Given the description of an element on the screen output the (x, y) to click on. 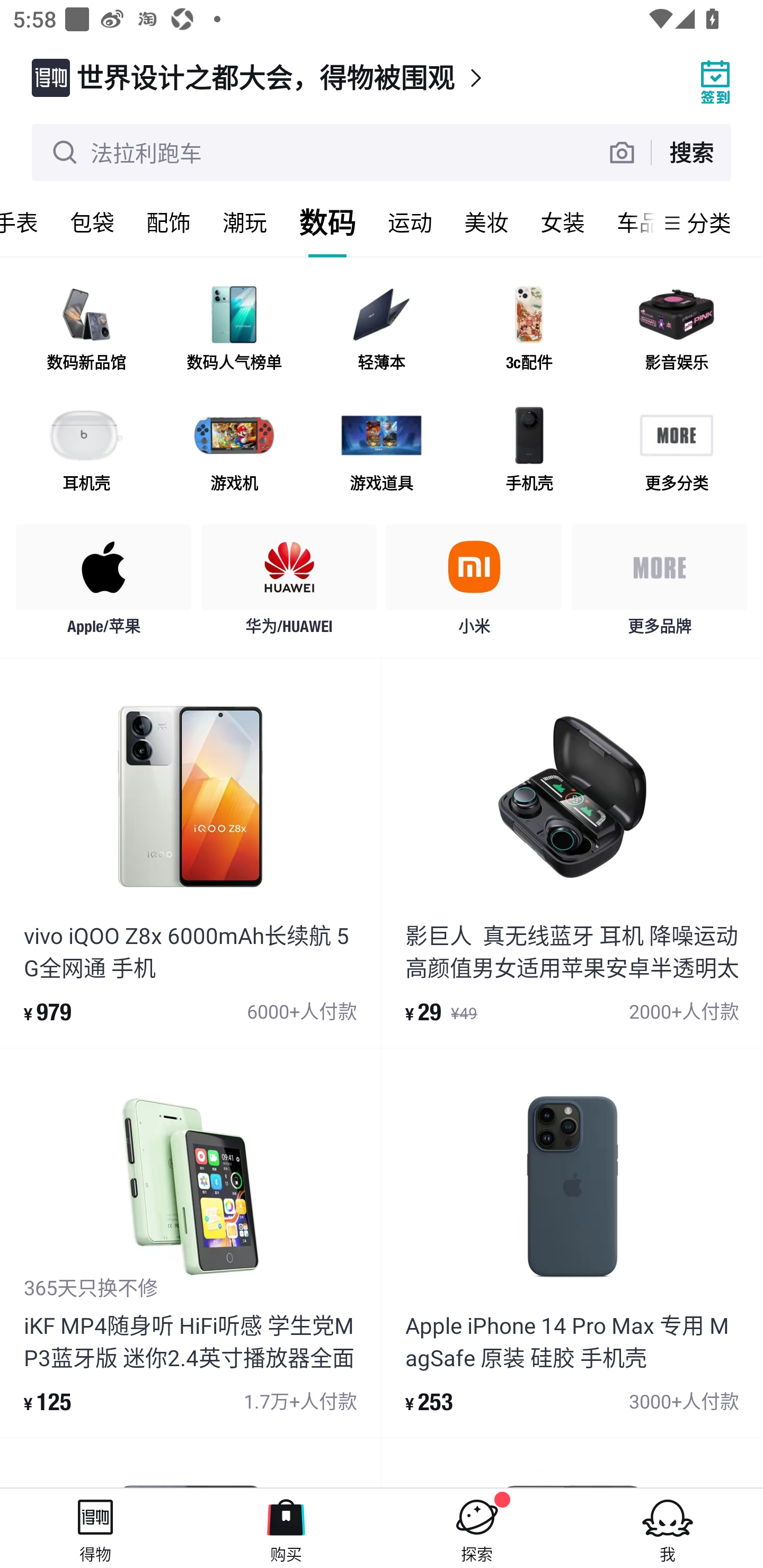
搜索 (690, 152)
手表 (27, 222)
包袋 (92, 222)
配饰 (168, 222)
潮玩 (244, 222)
数码 (327, 222)
运动 (410, 222)
美妆 (486, 222)
女装 (562, 222)
车品 (627, 222)
分类 (708, 222)
数码新品馆 (86, 329)
数码人气榜单 (233, 329)
轻薄本 (381, 329)
3c配件 (528, 329)
影音娱乐 (676, 329)
耳机壳 (86, 450)
游戏机 (233, 450)
游戏道具 (381, 450)
手机壳 (528, 450)
更多分类 (676, 450)
Apple/苹果 (103, 583)
华为/HUAWEI (288, 583)
小米 (473, 583)
更多品牌 (658, 583)
得物 (95, 1528)
购买 (285, 1528)
探索 (476, 1528)
我 (667, 1528)
